Given the description of an element on the screen output the (x, y) to click on. 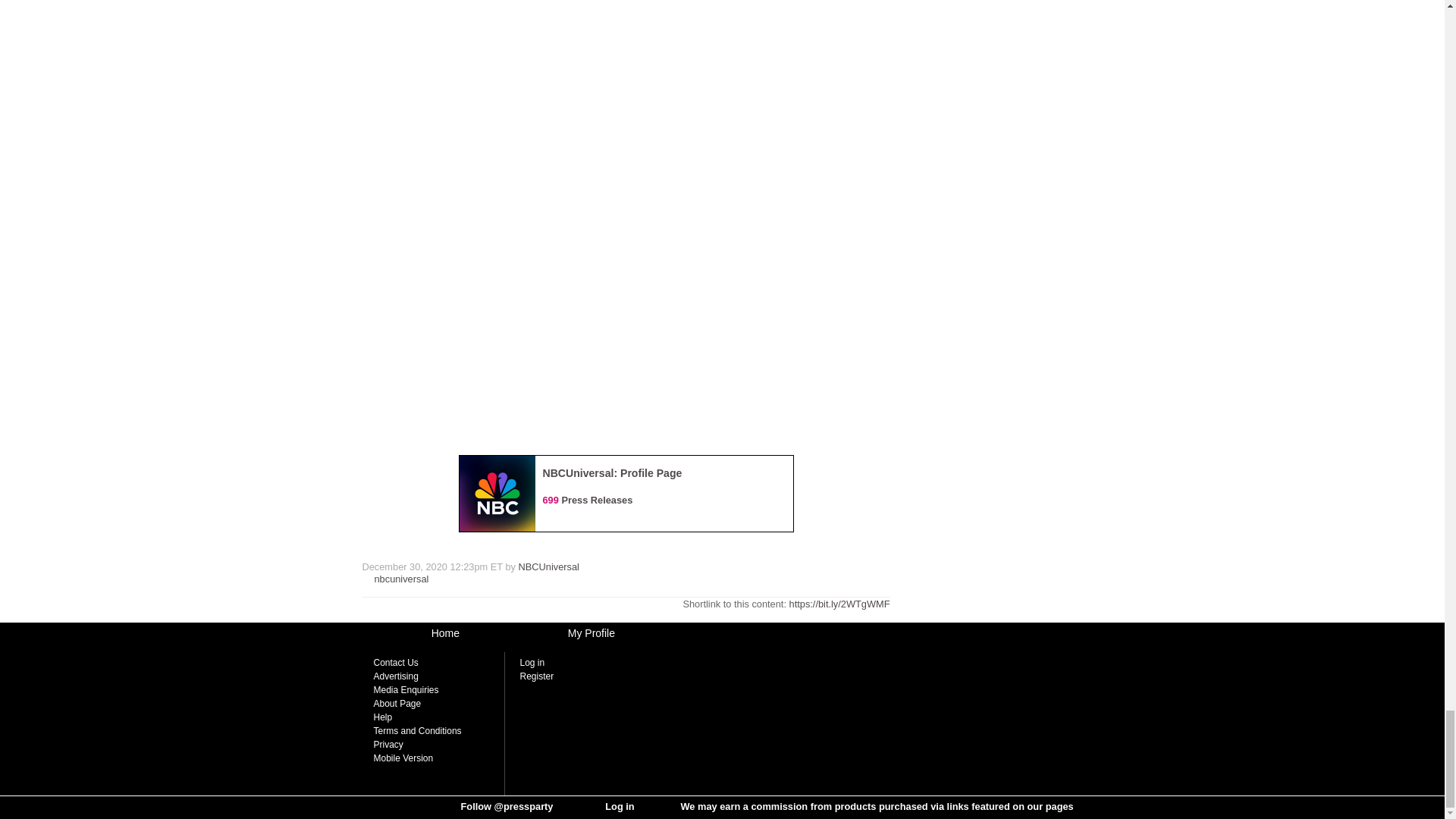
nbcuniversal (401, 578)
NBCUniversal: Profile Page (612, 472)
NBCUniversal (548, 566)
699 Press Releases (588, 500)
